Given the description of an element on the screen output the (x, y) to click on. 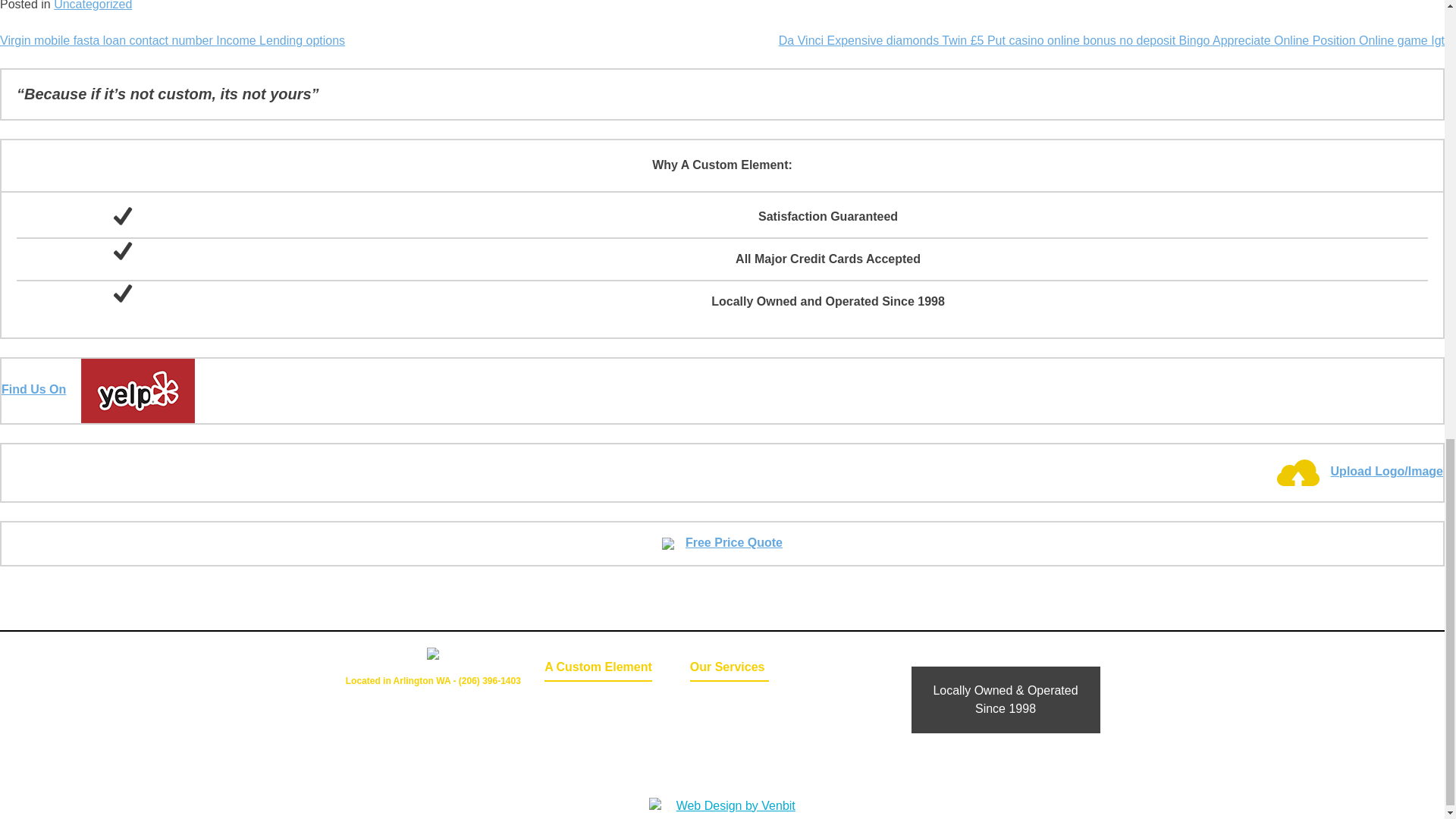
Textile Truffle (729, 762)
About Us (577, 742)
Find Us On (98, 389)
FAQ (729, 742)
Home (577, 699)
Contact Us (577, 721)
Services (729, 721)
Free Price Quote (722, 542)
Gallery (729, 699)
